Given the description of an element on the screen output the (x, y) to click on. 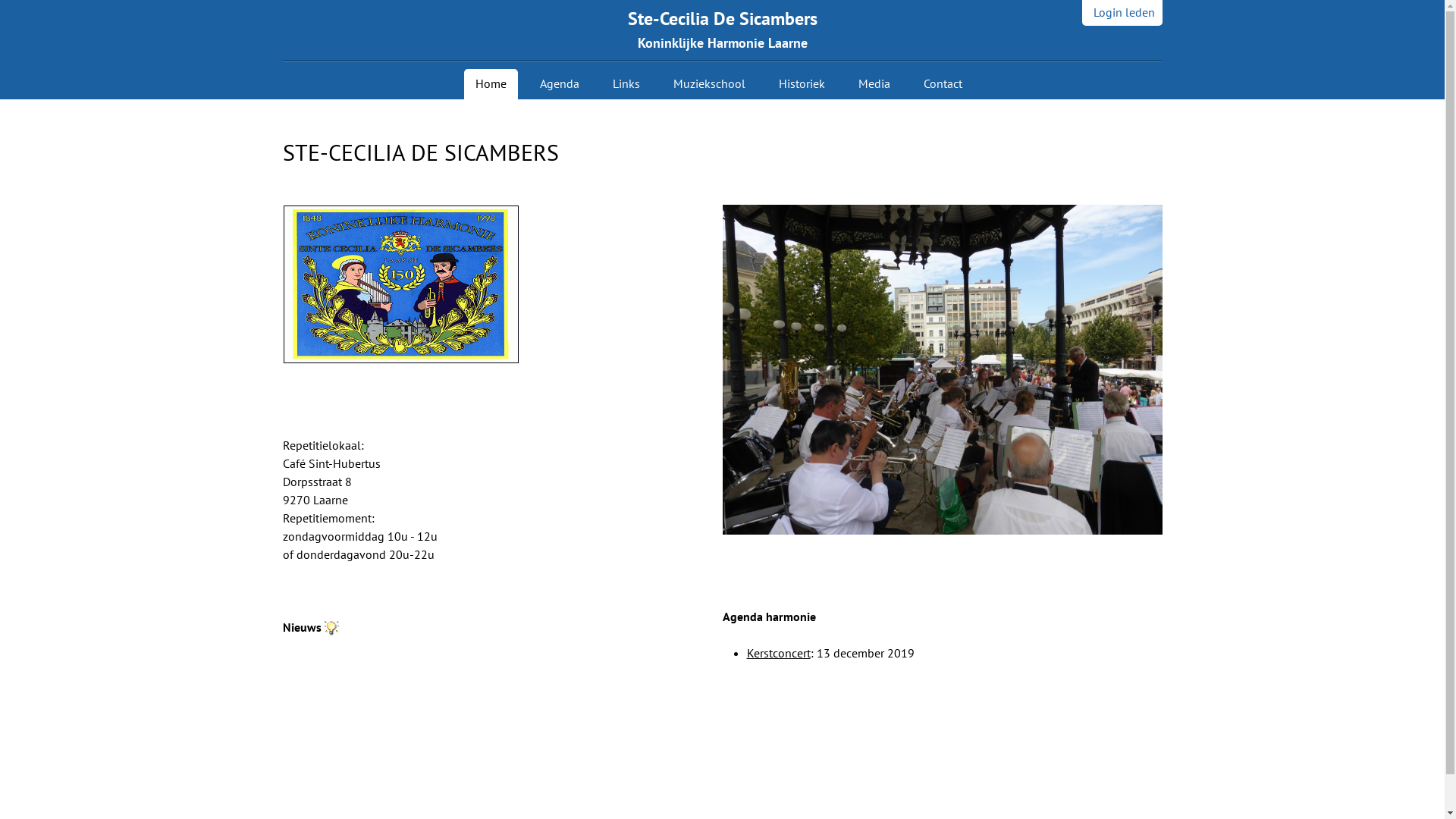
Links Element type: text (625, 84)
Kerstconcert Element type: text (777, 652)
Muziekschool Element type: text (708, 84)
Ste-Cecilia De Sicambers
Koninklijke Harmonie Laarne Element type: text (722, 29)
Login leden Element type: text (1121, 12)
Contact Element type: text (941, 84)
Home Element type: text (490, 84)
Historiek Element type: text (801, 84)
Agenda Element type: text (558, 84)
Media Element type: text (873, 84)
